Given the description of an element on the screen output the (x, y) to click on. 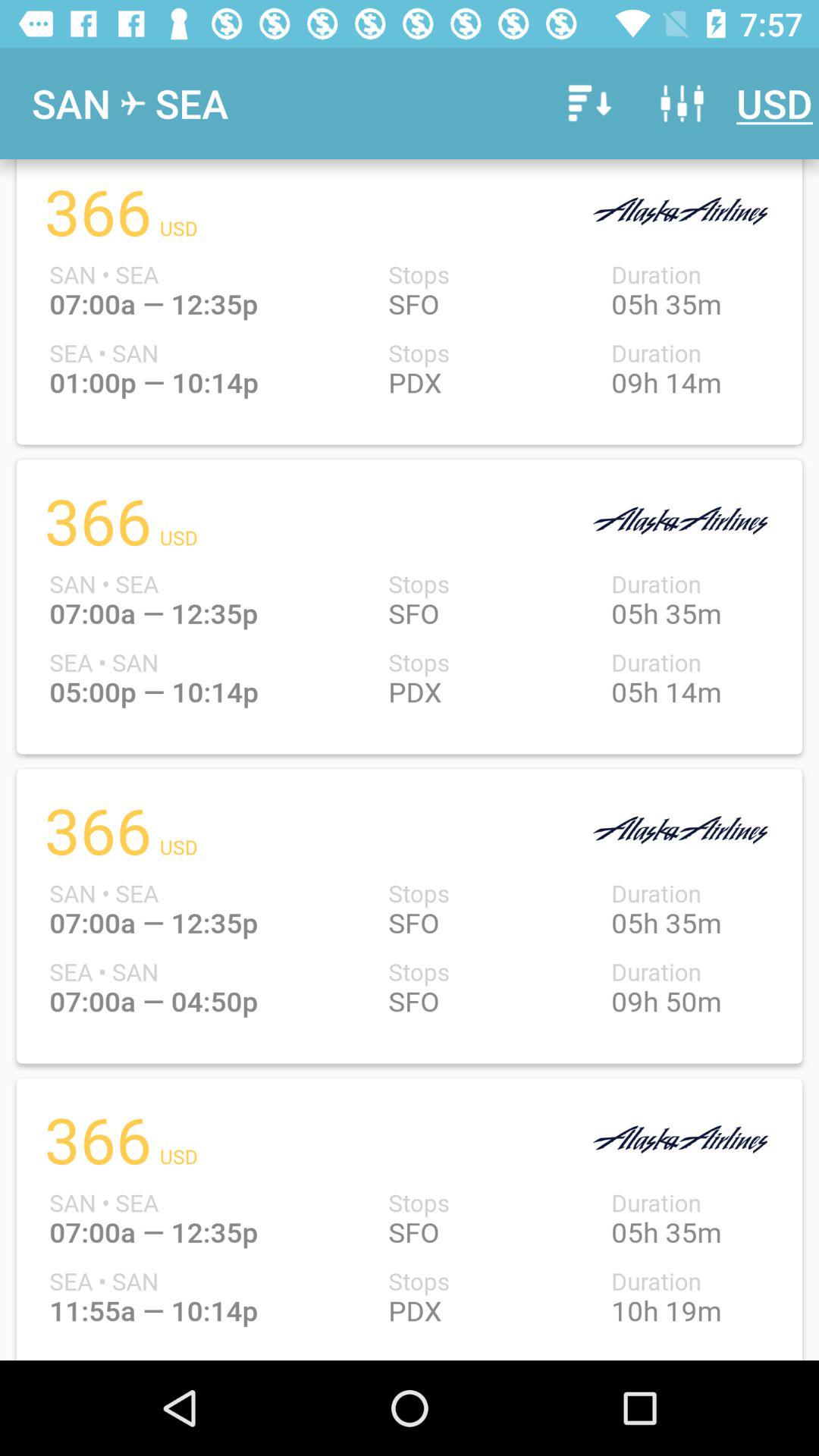
turn on the icon to the right of the sea (586, 103)
